Given the description of an element on the screen output the (x, y) to click on. 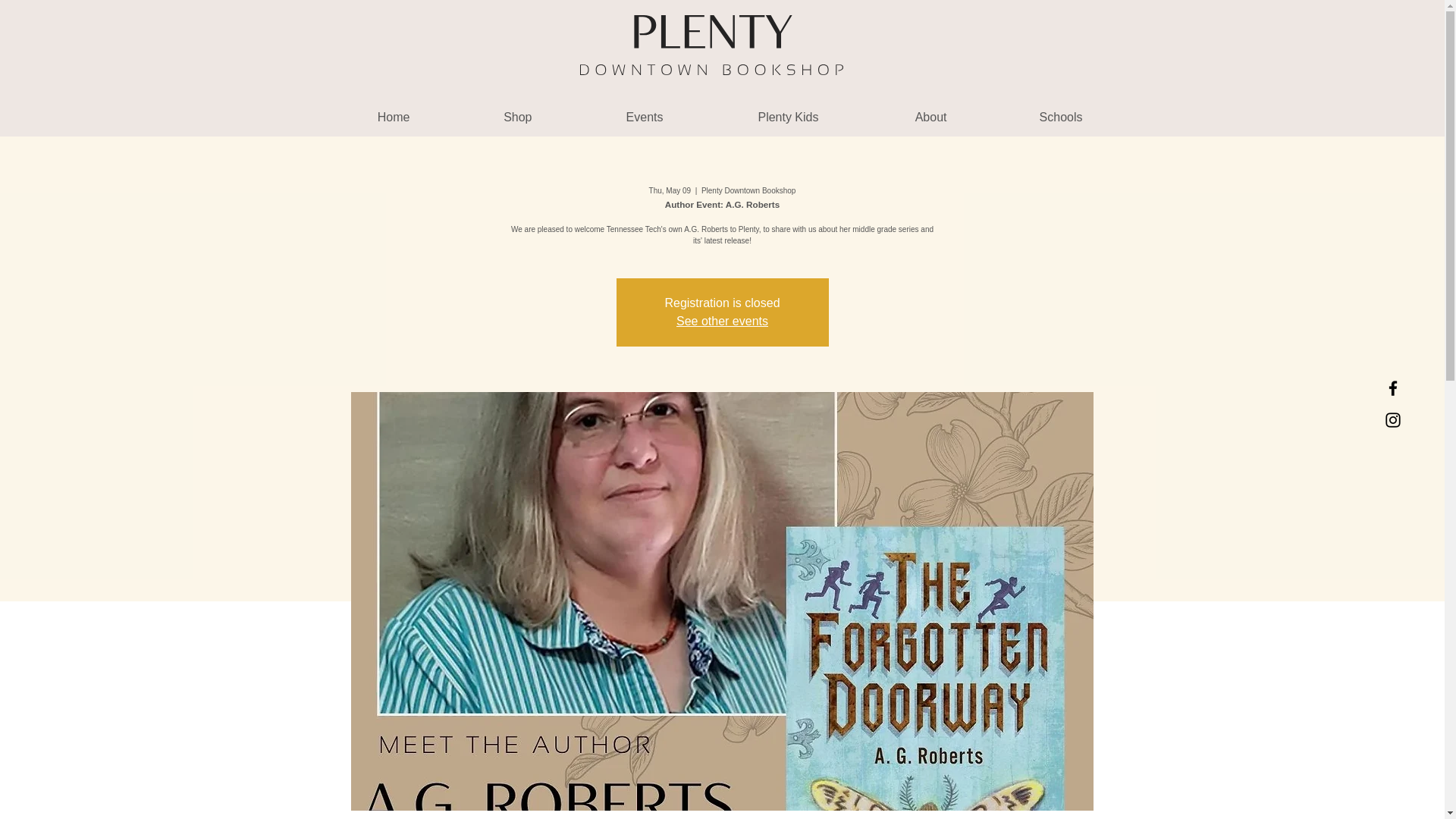
Schools (1026, 117)
Home (358, 117)
Shop (482, 117)
Events (608, 117)
About (893, 117)
Plenty Kids (752, 117)
See other events (722, 320)
